Given the description of an element on the screen output the (x, y) to click on. 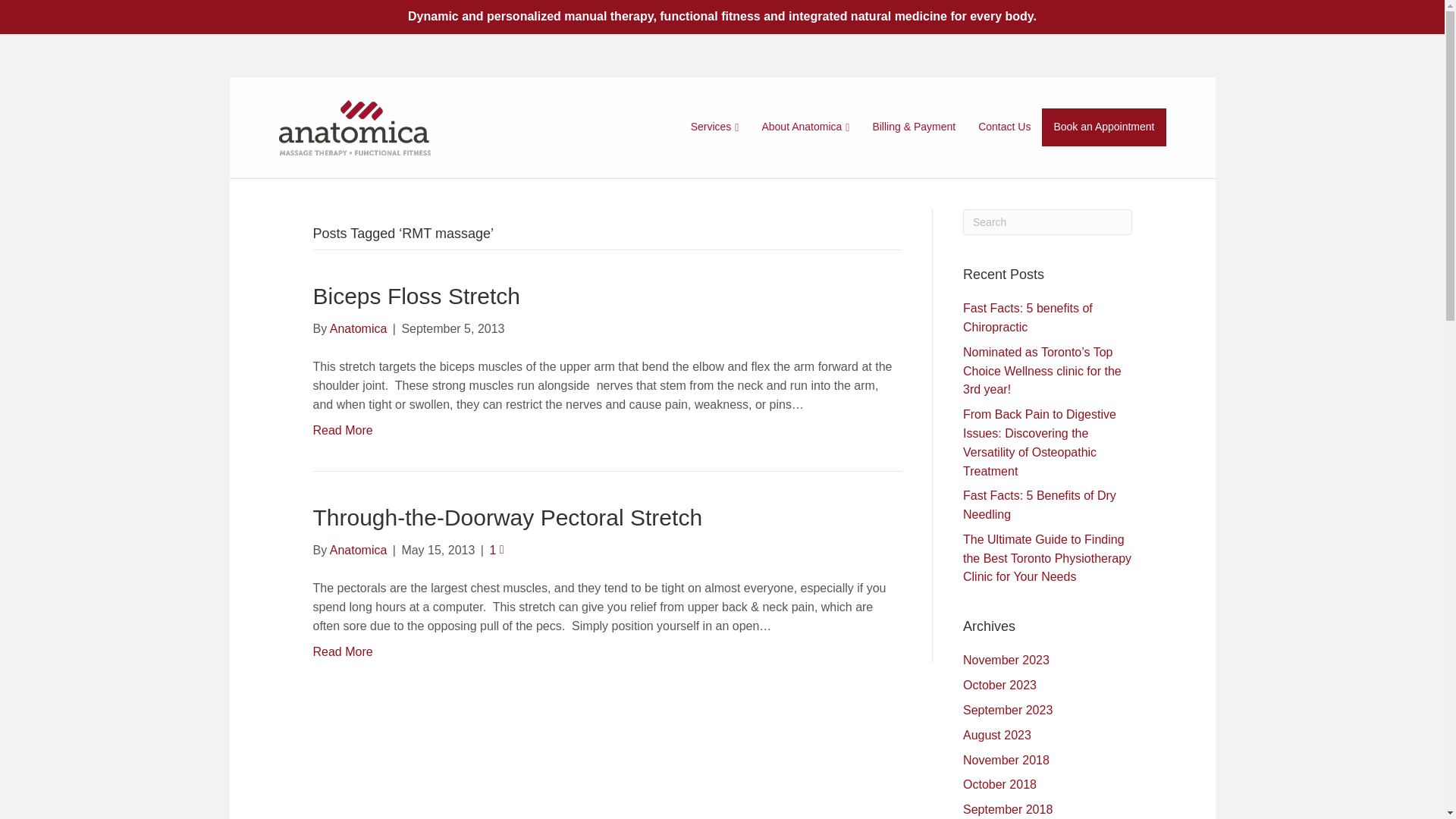
Through-the-Doorway Pectoral Stretch Element type: text (507, 517)
1 Element type: text (496, 549)
September 2018 Element type: text (1007, 809)
Fast Facts: 5 Benefits of Dry Needling Element type: text (1039, 504)
Anatomica Element type: text (358, 549)
Book an Appointment Element type: text (1103, 127)
Services Element type: text (714, 127)
Type and press Enter to search. Element type: hover (1047, 222)
Contact Us Element type: text (1003, 127)
Read More Element type: text (342, 651)
November 2018 Element type: text (1006, 759)
October 2018 Element type: text (999, 784)
Biceps Floss Stretch Element type: text (415, 295)
About Anatomica Element type: text (804, 127)
September 2023 Element type: text (1007, 709)
Billing & Payment Element type: text (913, 127)
Anatomica Element type: text (358, 328)
Fast Facts: 5 benefits of Chiropractic Element type: text (1027, 317)
October 2023 Element type: text (999, 684)
Read More Element type: text (342, 429)
August 2023 Element type: text (997, 734)
November 2023 Element type: text (1006, 659)
